Given the description of an element on the screen output the (x, y) to click on. 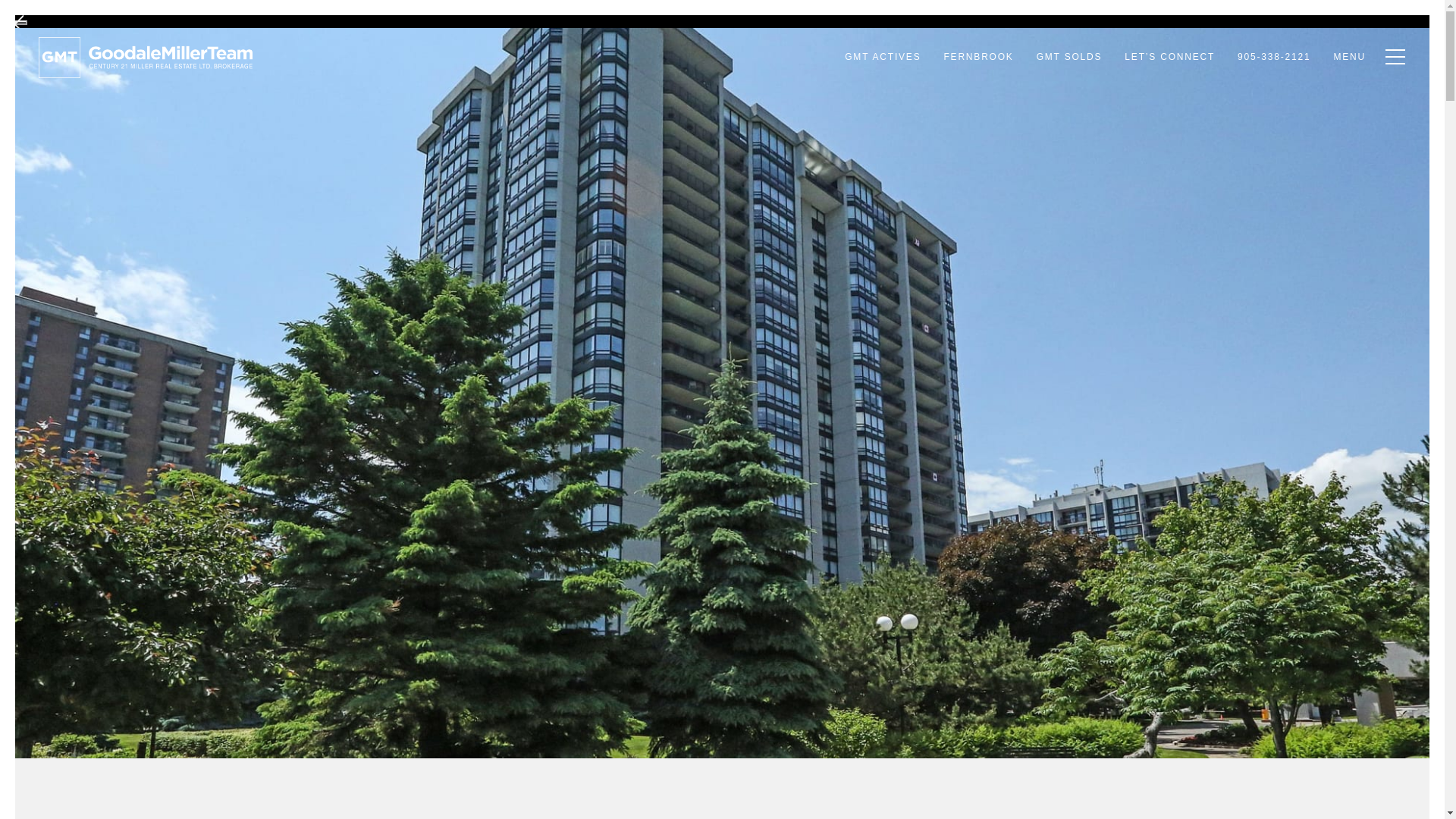
GMT SOLDS (1069, 56)
MENU (1349, 56)
FERNBROOK (978, 56)
Toggle navigation (1391, 56)
See all photos (1353, 701)
905-338-2121 (1273, 56)
Previous (20, 22)
GMT ACTIVES (881, 56)
